Given the description of an element on the screen output the (x, y) to click on. 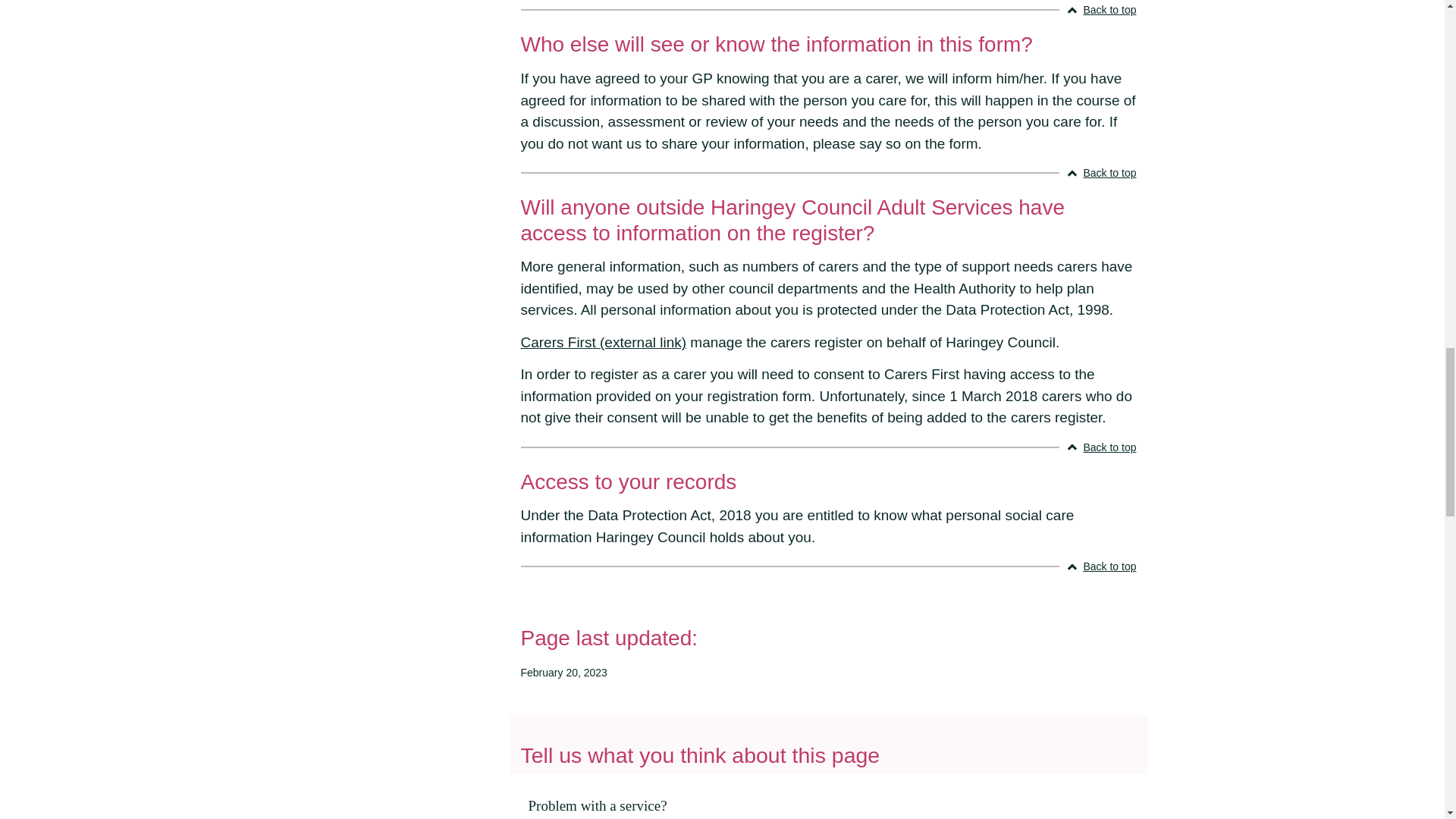
Link to top (1101, 172)
Link to top (1101, 10)
Link to top (1101, 447)
